Given the description of an element on the screen output the (x, y) to click on. 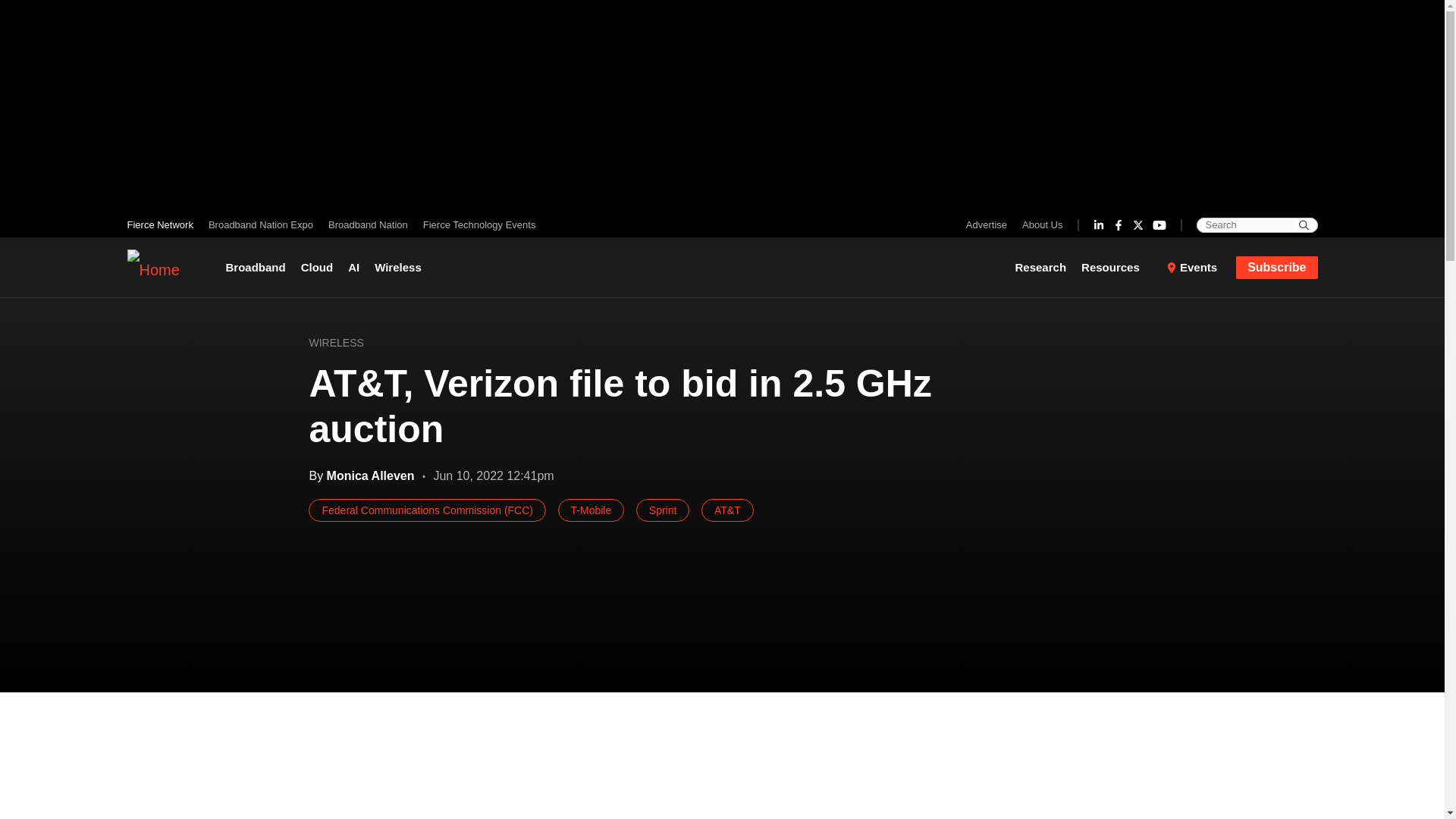
Broadband (259, 266)
Wireless (397, 266)
Broadband Nation Expo (260, 225)
Subscribe (1276, 267)
Cloud (317, 266)
About Us (1038, 225)
AI (353, 266)
Research (1044, 266)
Resources (1116, 266)
Broadband Nation (367, 225)
Fierce Technology Events (474, 225)
Fierce Network (164, 225)
Advertise (990, 225)
